Given the description of an element on the screen output the (x, y) to click on. 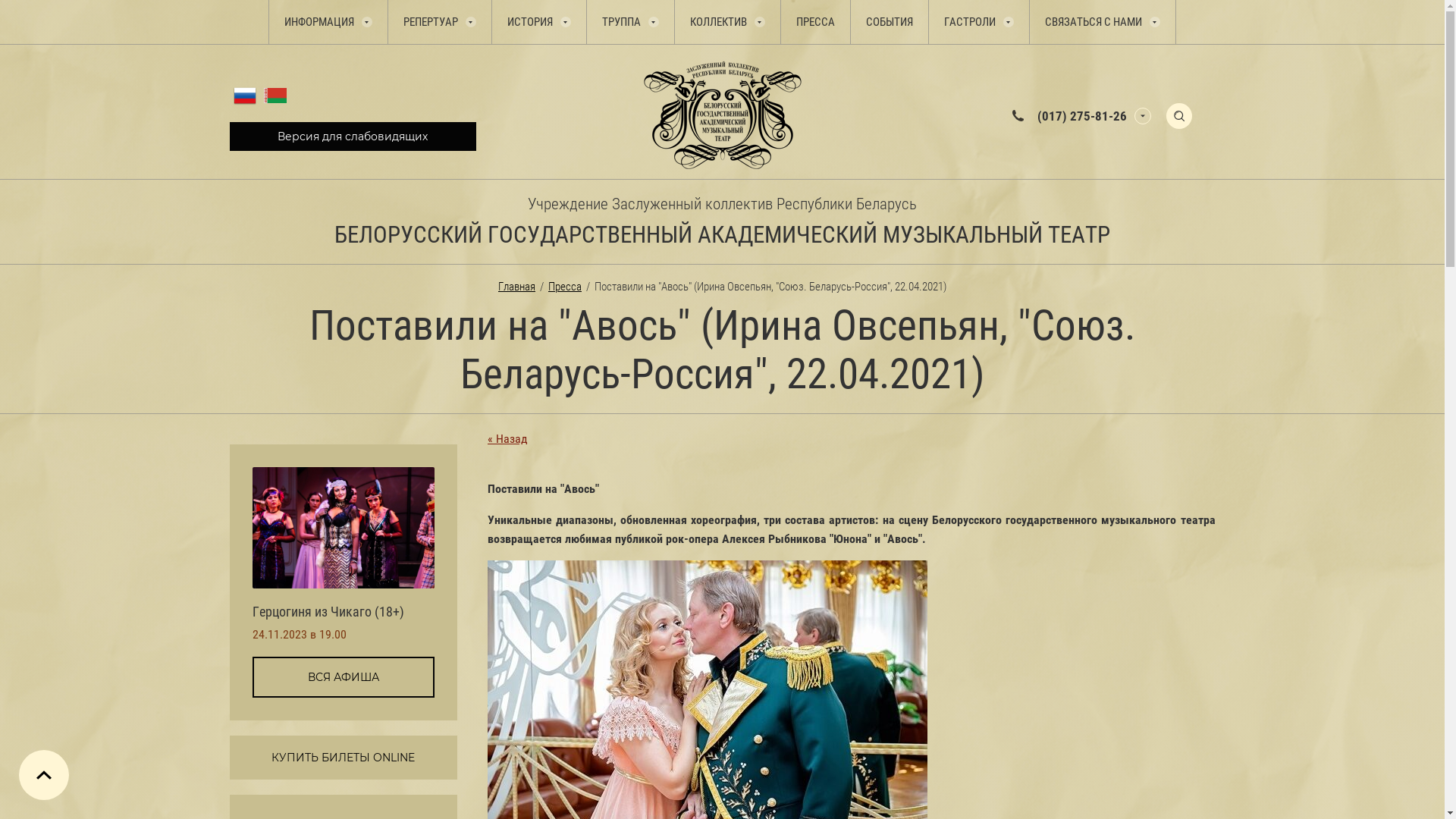
(017) 275-81-26 Element type: text (1081, 114)
